Given the description of an element on the screen output the (x, y) to click on. 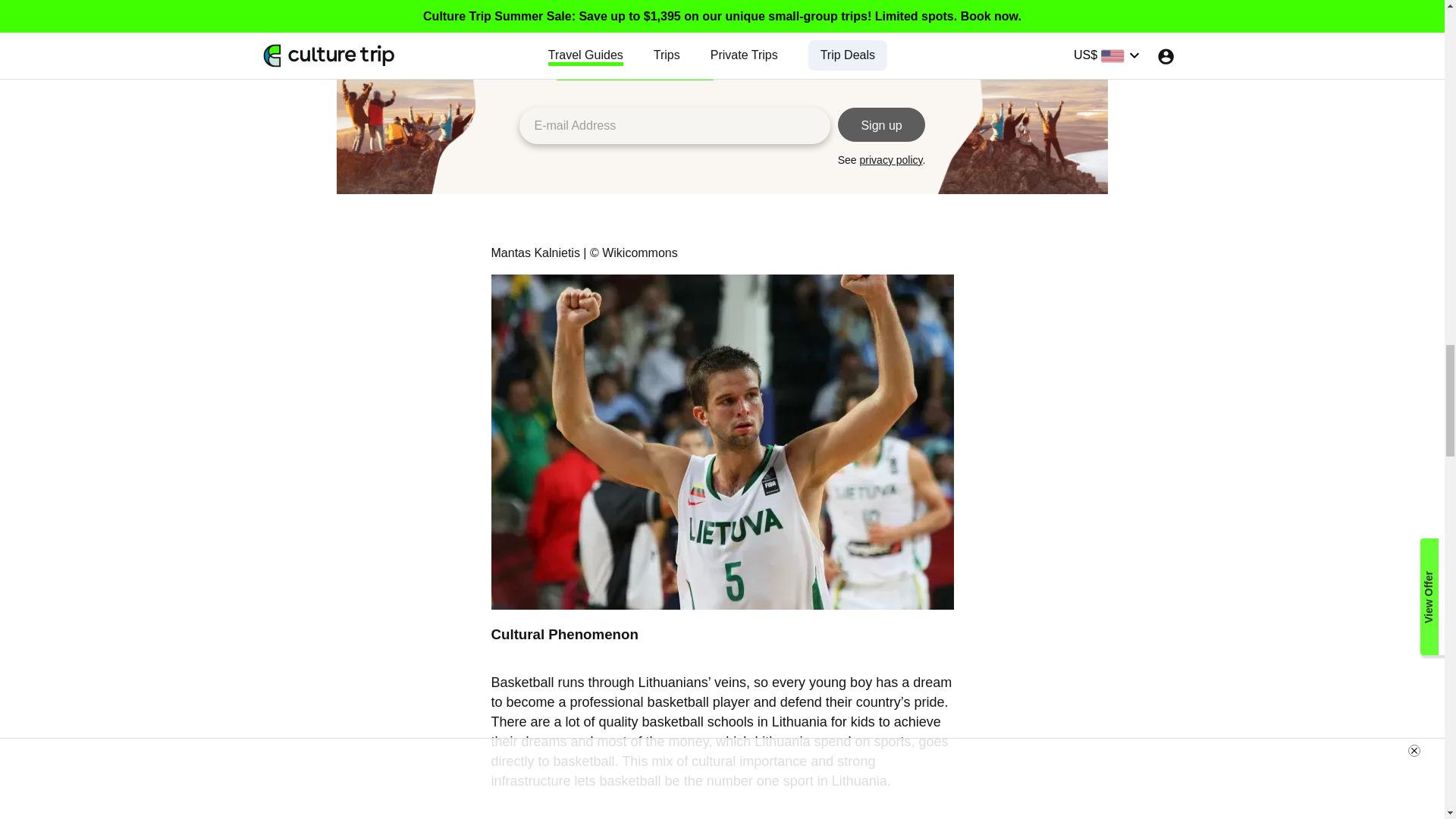
privacy policy (891, 159)
Sign up (882, 124)
